Given the description of an element on the screen output the (x, y) to click on. 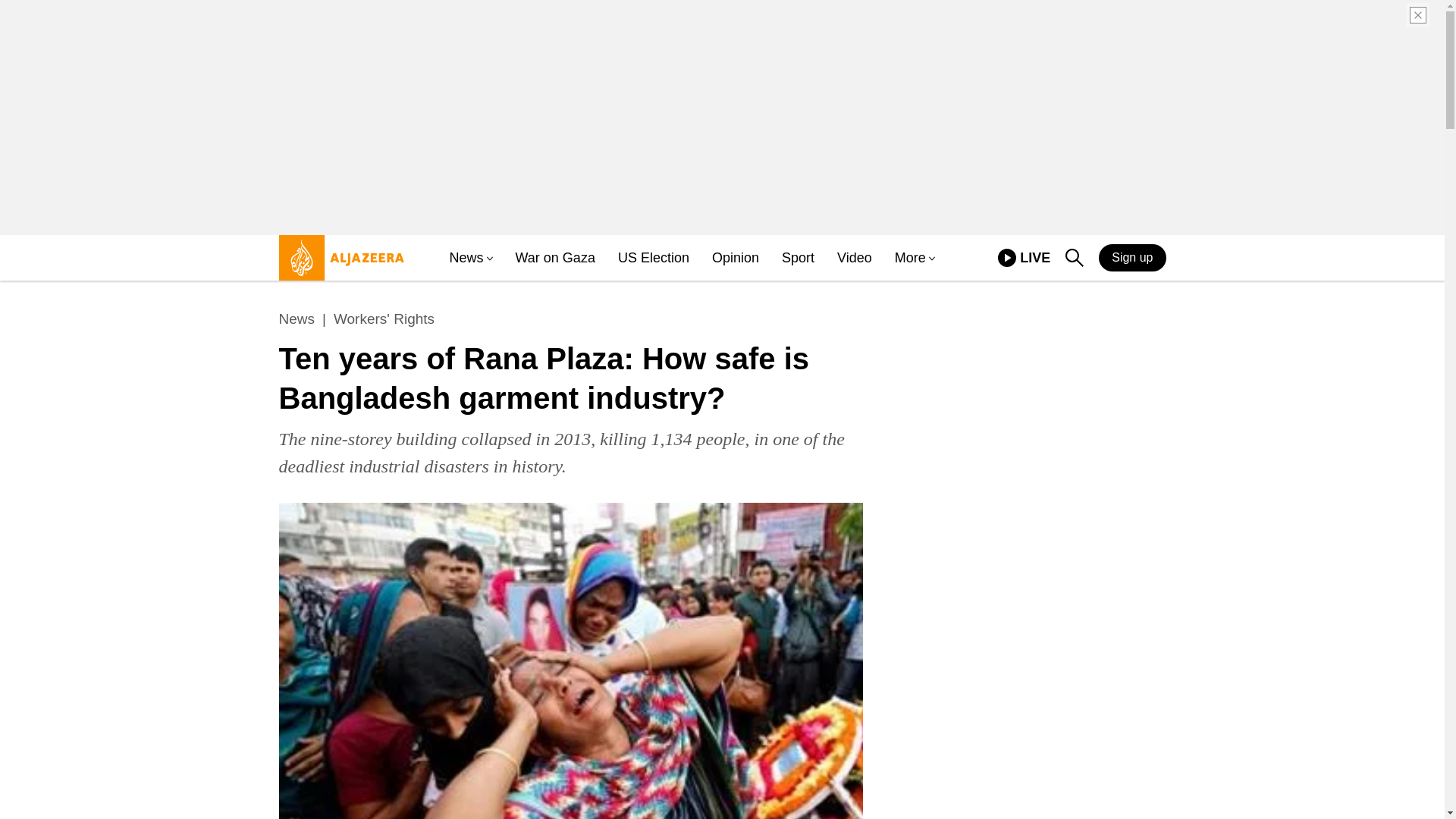
Video (854, 257)
Sport (797, 257)
search (1074, 257)
US Election (652, 257)
Skip to Content (337, 264)
News (465, 257)
Workers' Rights (383, 319)
play (1006, 257)
Sign up (1132, 257)
More (1023, 257)
Opinion (910, 257)
News (734, 257)
War on Gaza (297, 319)
